Given the description of an element on the screen output the (x, y) to click on. 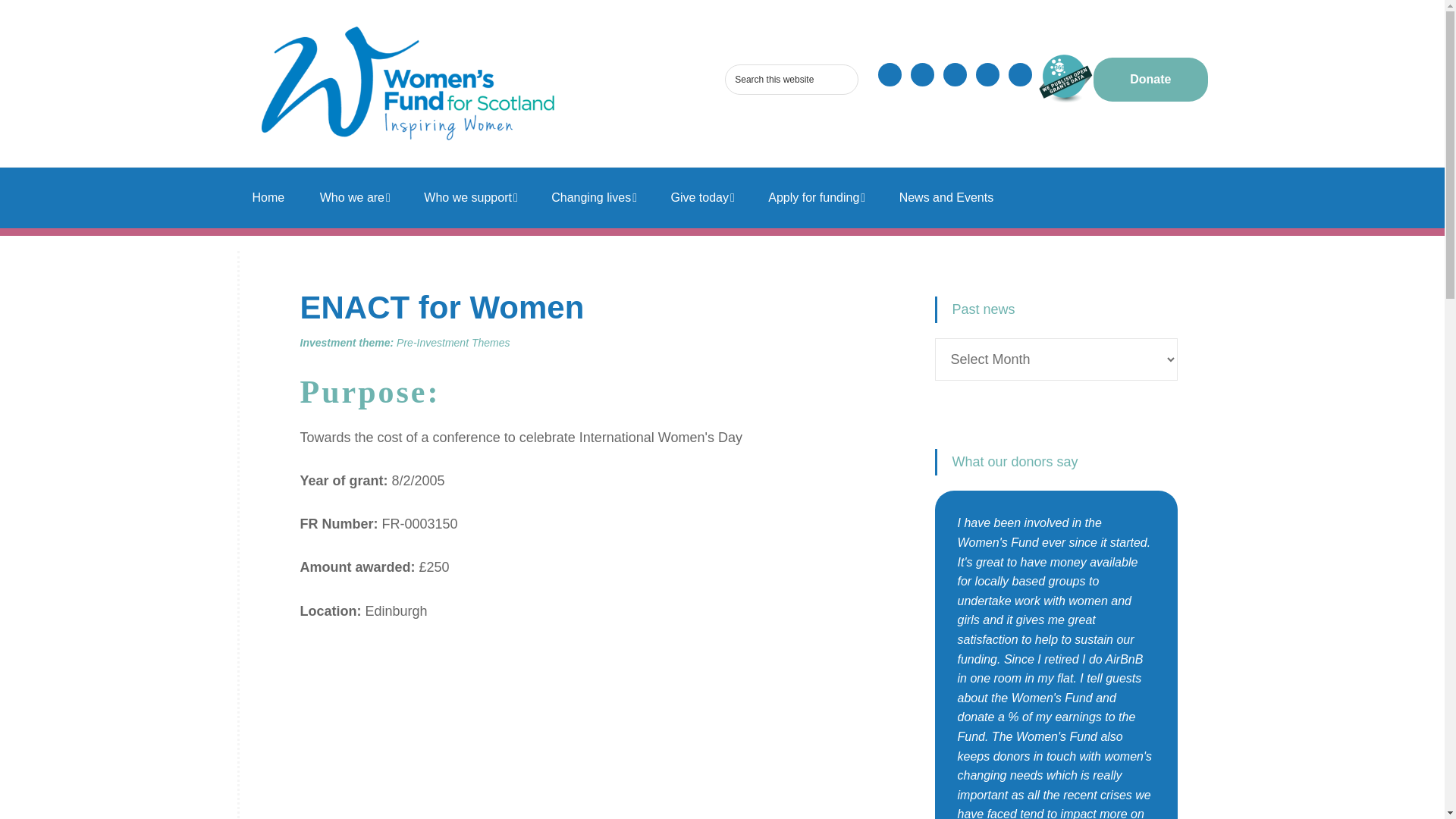
Home (268, 197)
Who we are (355, 197)
Donate (1150, 79)
Women's Fund for Scotland (406, 83)
Who we support (470, 197)
Search (881, 73)
Search (881, 73)
Changing lives (593, 197)
Give today (702, 197)
Search (881, 73)
